Given the description of an element on the screen output the (x, y) to click on. 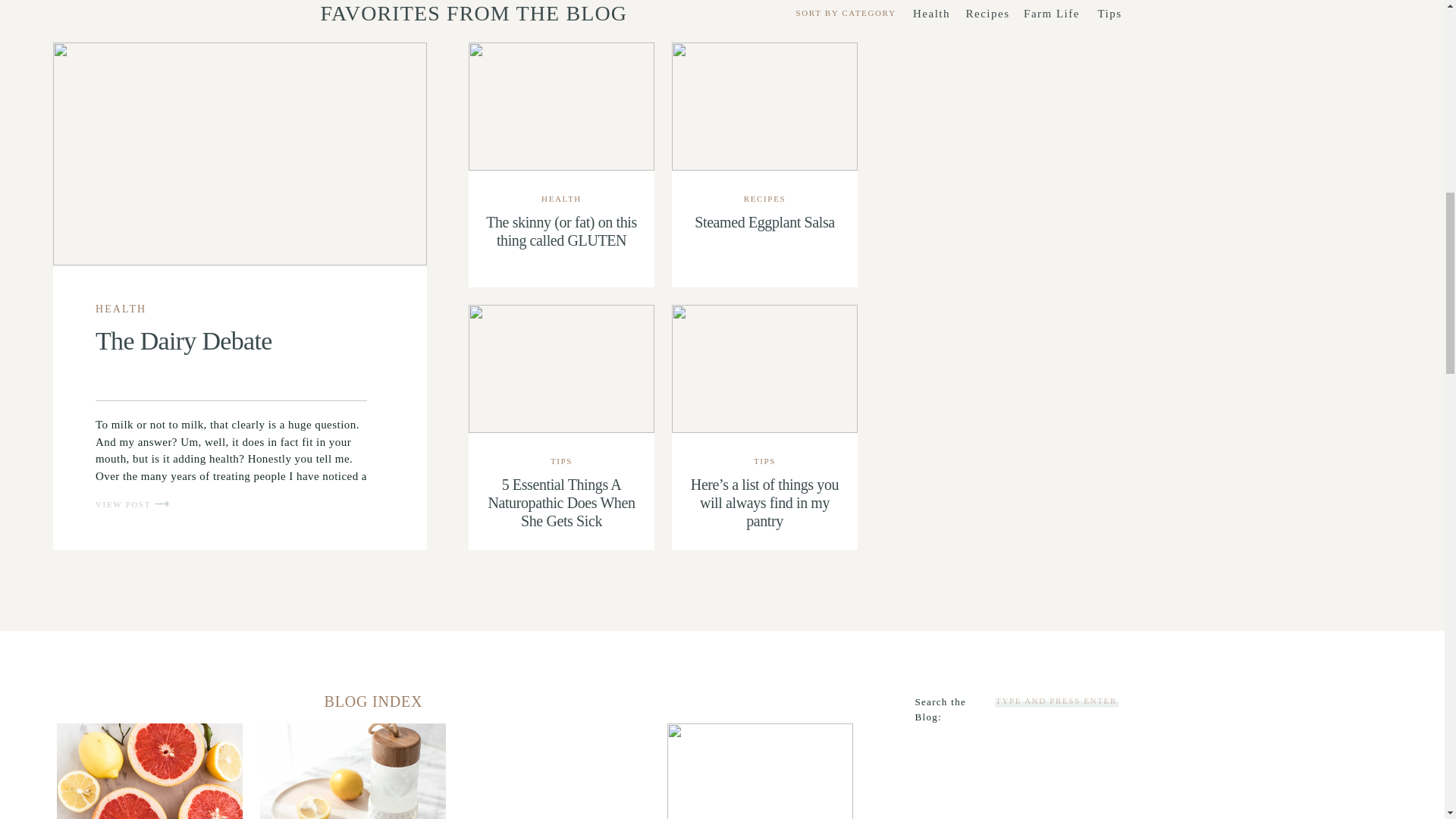
The Dairy Debate (239, 153)
The Dairy Debate (184, 340)
VIEW POST (130, 503)
The Dairy Debate (130, 503)
5 Essential Things A Naturopathic Does When She Gets Sick (560, 368)
The Dairy Debate (161, 503)
Steamed Eggplant Salsa (764, 106)
